Given the description of an element on the screen output the (x, y) to click on. 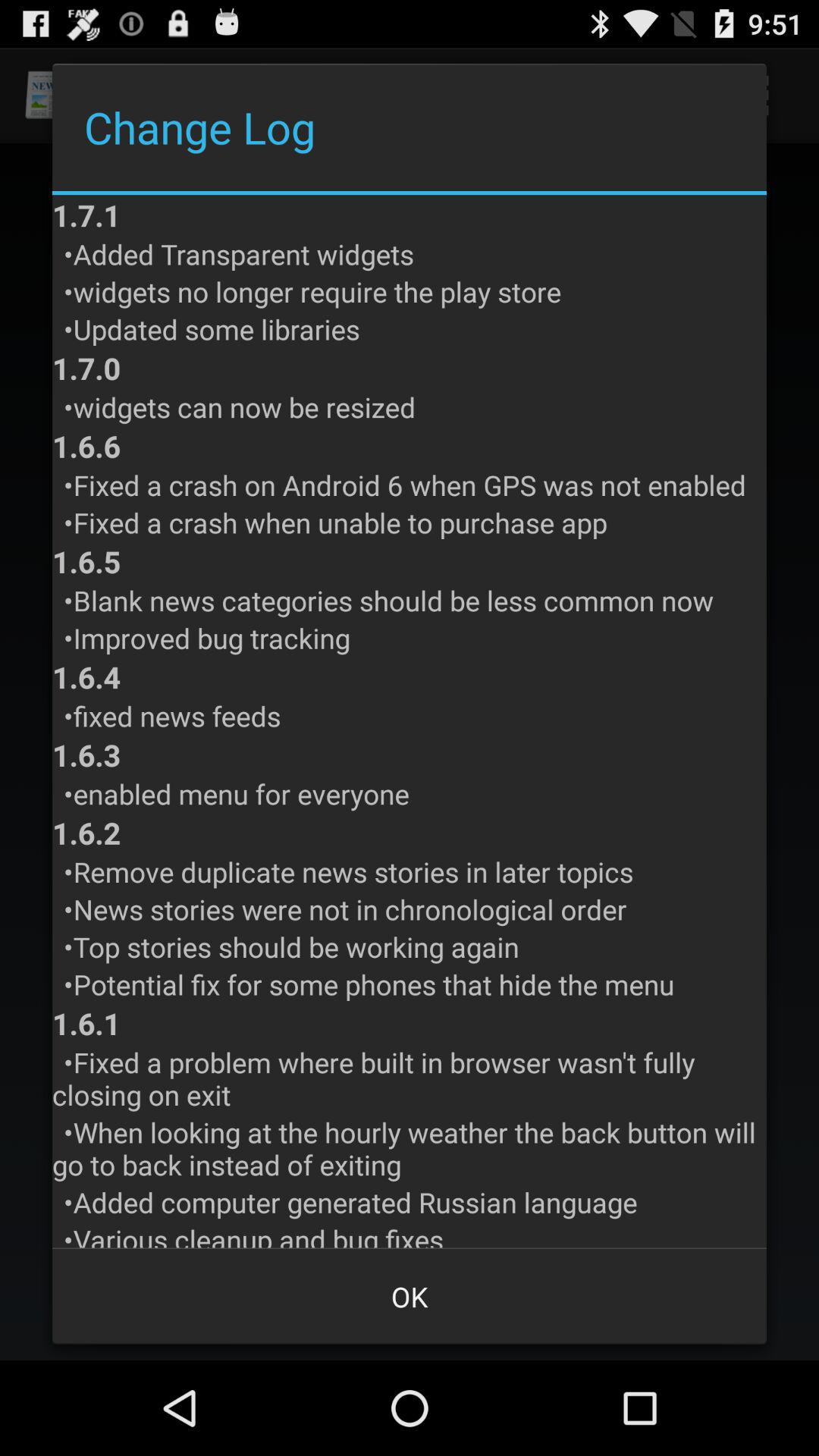
scroll until ok (409, 1296)
